Given the description of an element on the screen output the (x, y) to click on. 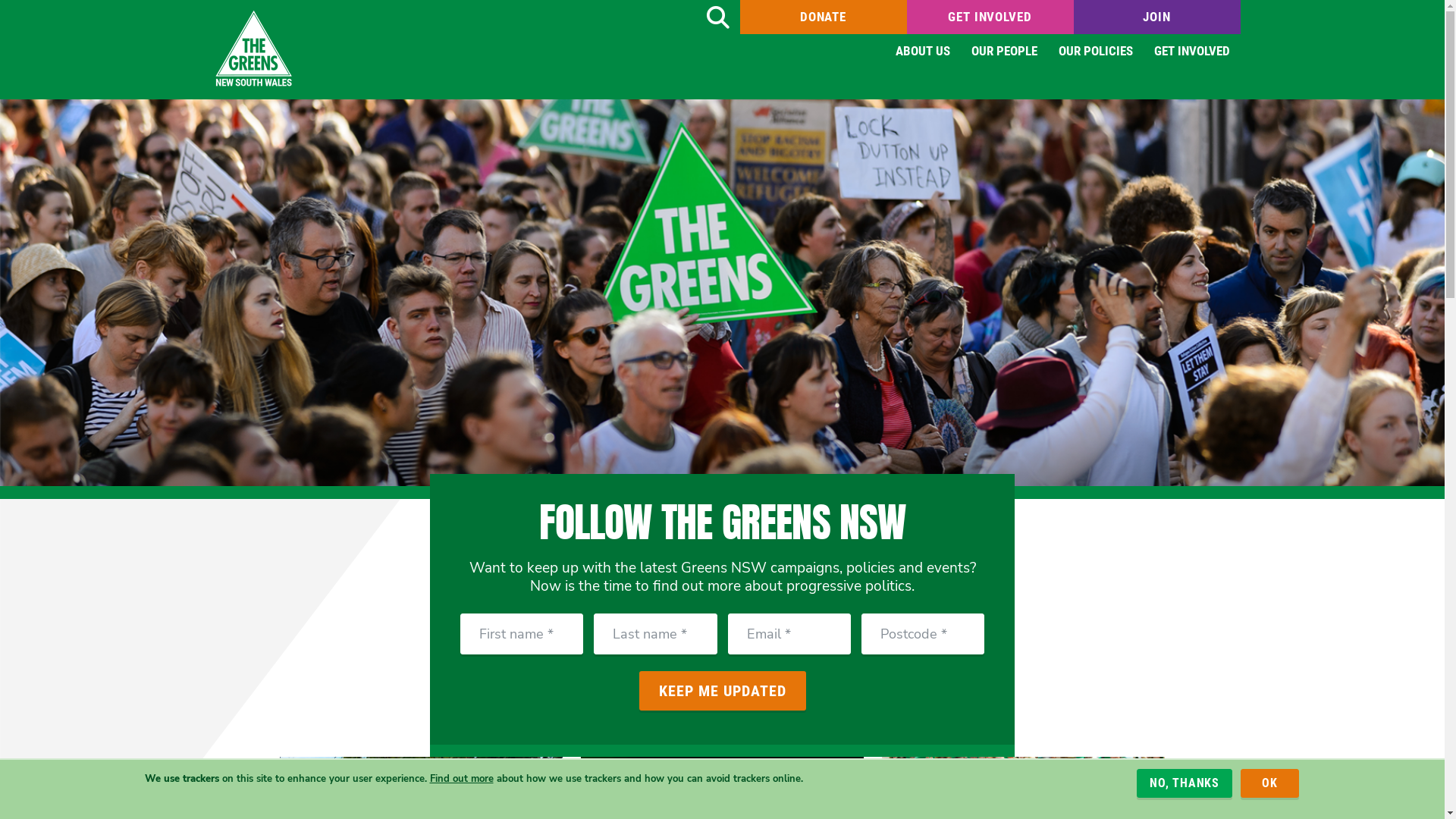
JOIN Element type: text (1156, 17)
NO, THANKS Element type: text (1184, 782)
KEEP ME UPDATED Element type: text (721, 690)
Find out more Element type: text (460, 778)
OK Element type: text (1269, 782)
ABOUT US Element type: text (922, 51)
OUR PEOPLE Element type: text (1003, 51)
Search Element type: text (716, 17)
Skip to main content Element type: text (0, 0)
DONATE Element type: text (823, 17)
OUR POLICIES Element type: text (1095, 51)
GET INVOLVED Element type: text (1191, 51)
GET INVOLVED Element type: text (989, 17)
